Given the description of an element on the screen output the (x, y) to click on. 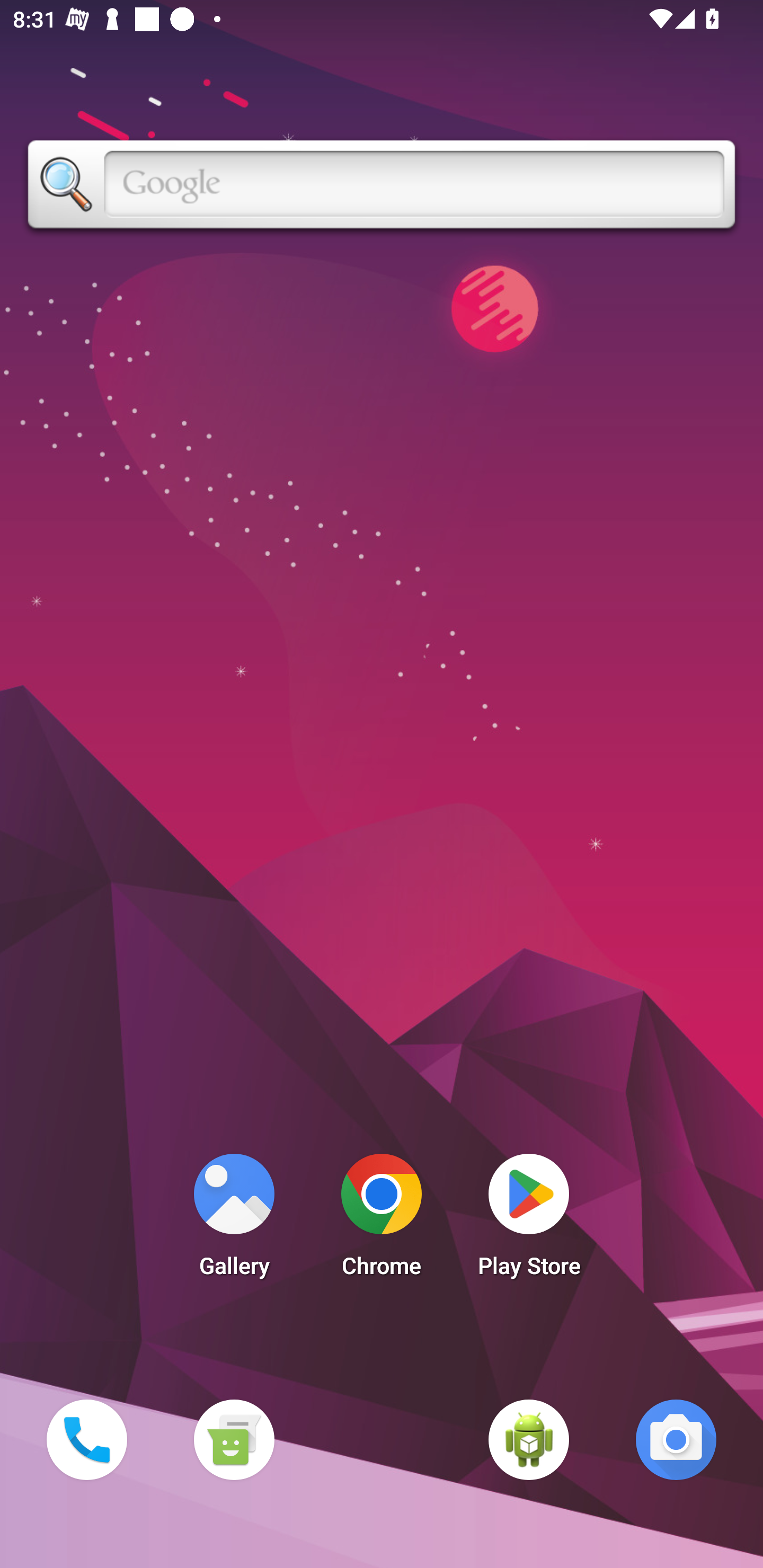
Gallery (233, 1220)
Chrome (381, 1220)
Play Store (528, 1220)
Phone (86, 1439)
Messaging (233, 1439)
WebView Browser Tester (528, 1439)
Camera (676, 1439)
